Given the description of an element on the screen output the (x, y) to click on. 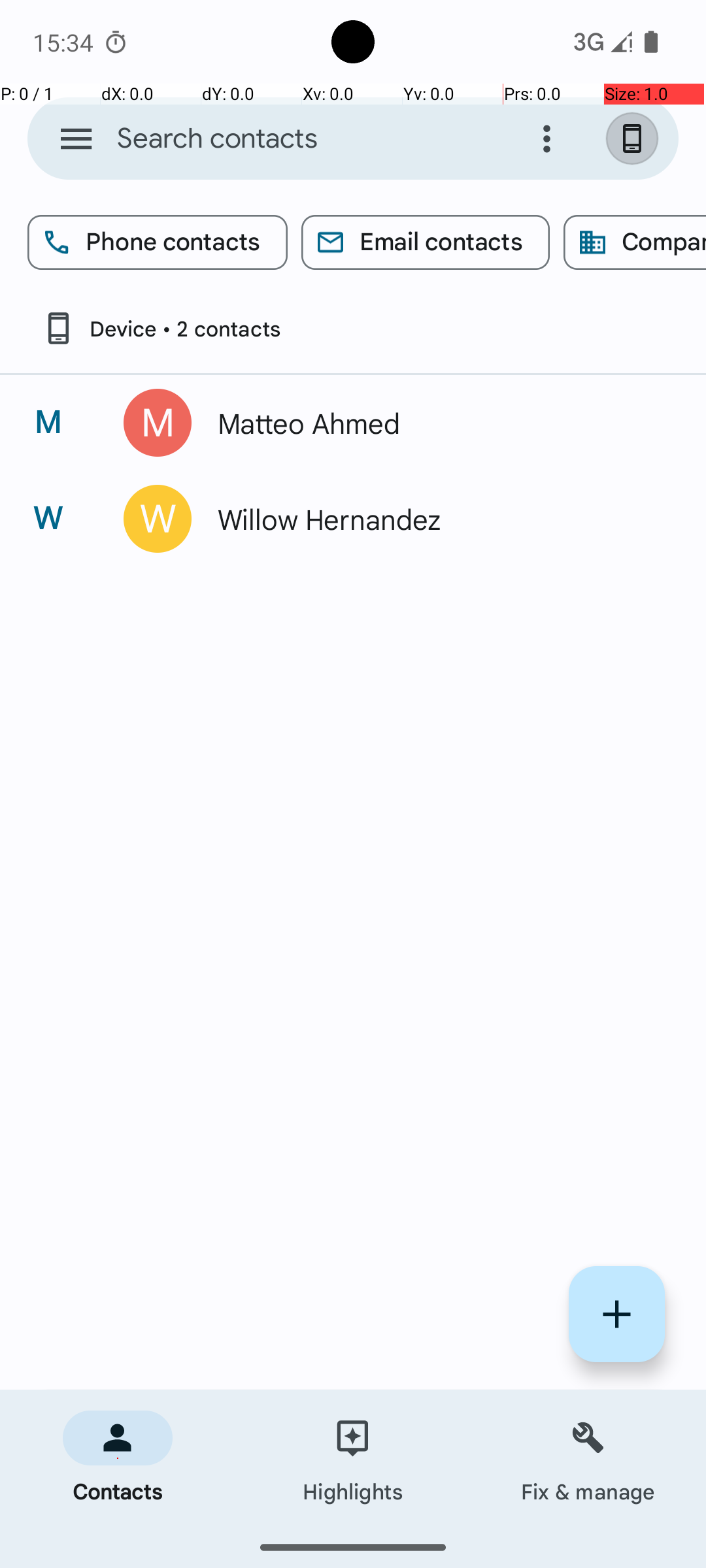
Device • 2 contacts Element type: android.widget.TextView (161, 328)
Matteo Ahmed Element type: android.widget.TextView (434, 422)
Willow Hernandez Element type: android.widget.TextView (434, 518)
